Given the description of an element on the screen output the (x, y) to click on. 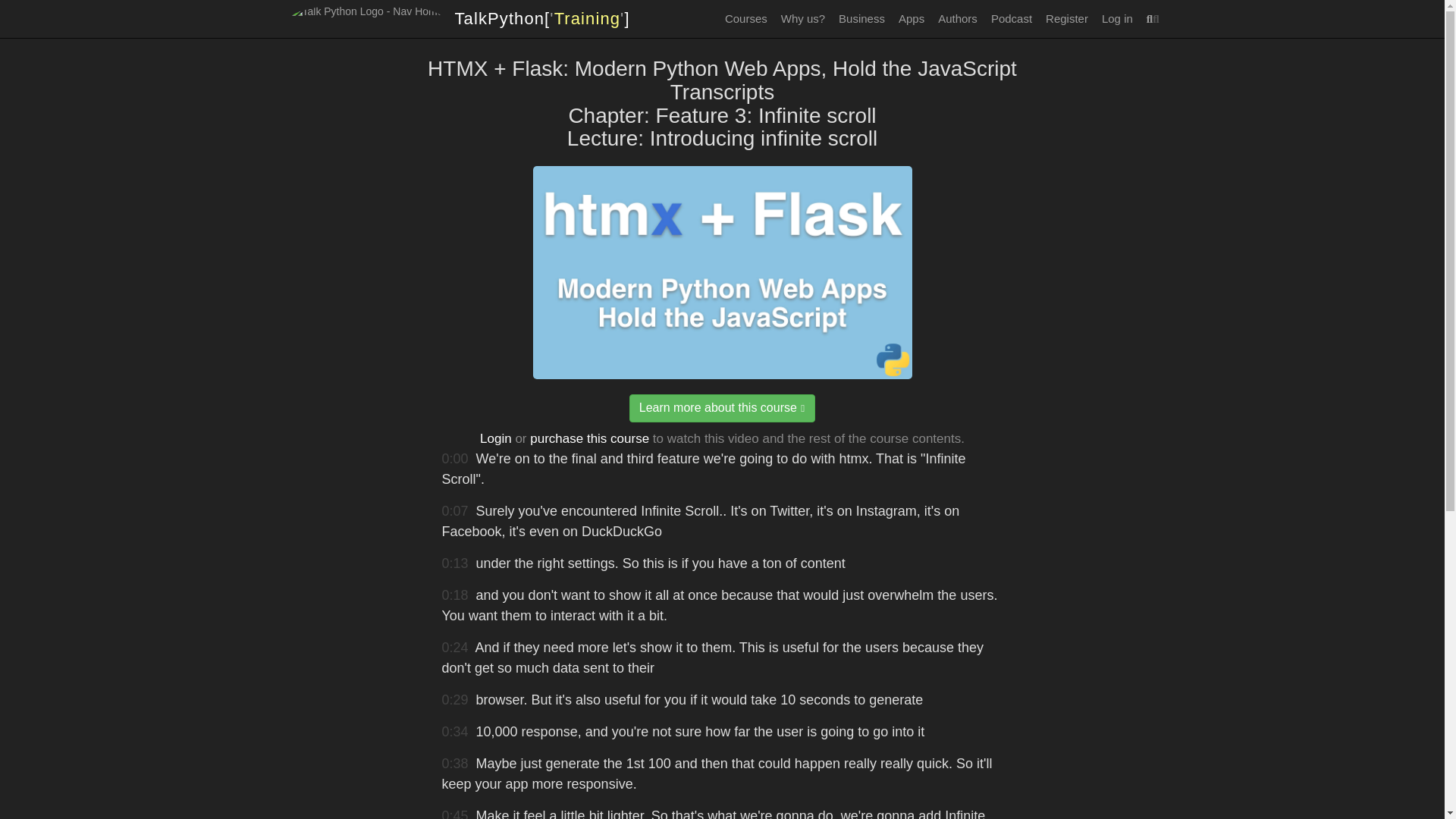
Apps (911, 18)
Authors (957, 18)
Create a free account (1066, 18)
Log in (1117, 18)
Login (496, 438)
Podcast (1011, 18)
See our special pricing for enterprise and corporate teams (861, 18)
Business (861, 18)
purchase this course (589, 438)
